Given the description of an element on the screen output the (x, y) to click on. 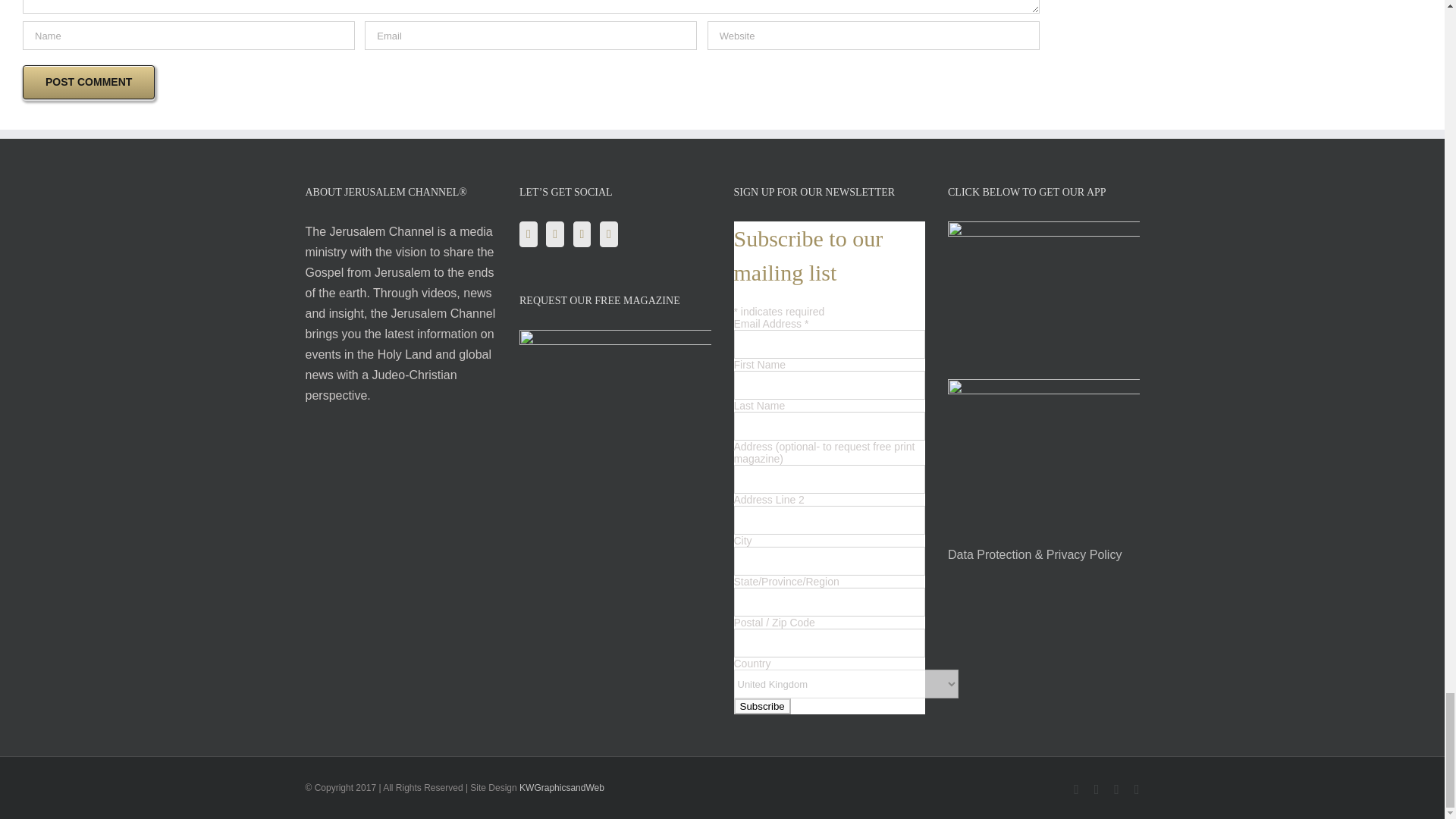
Subscribe (761, 706)
Post Comment (88, 82)
